Given the description of an element on the screen output the (x, y) to click on. 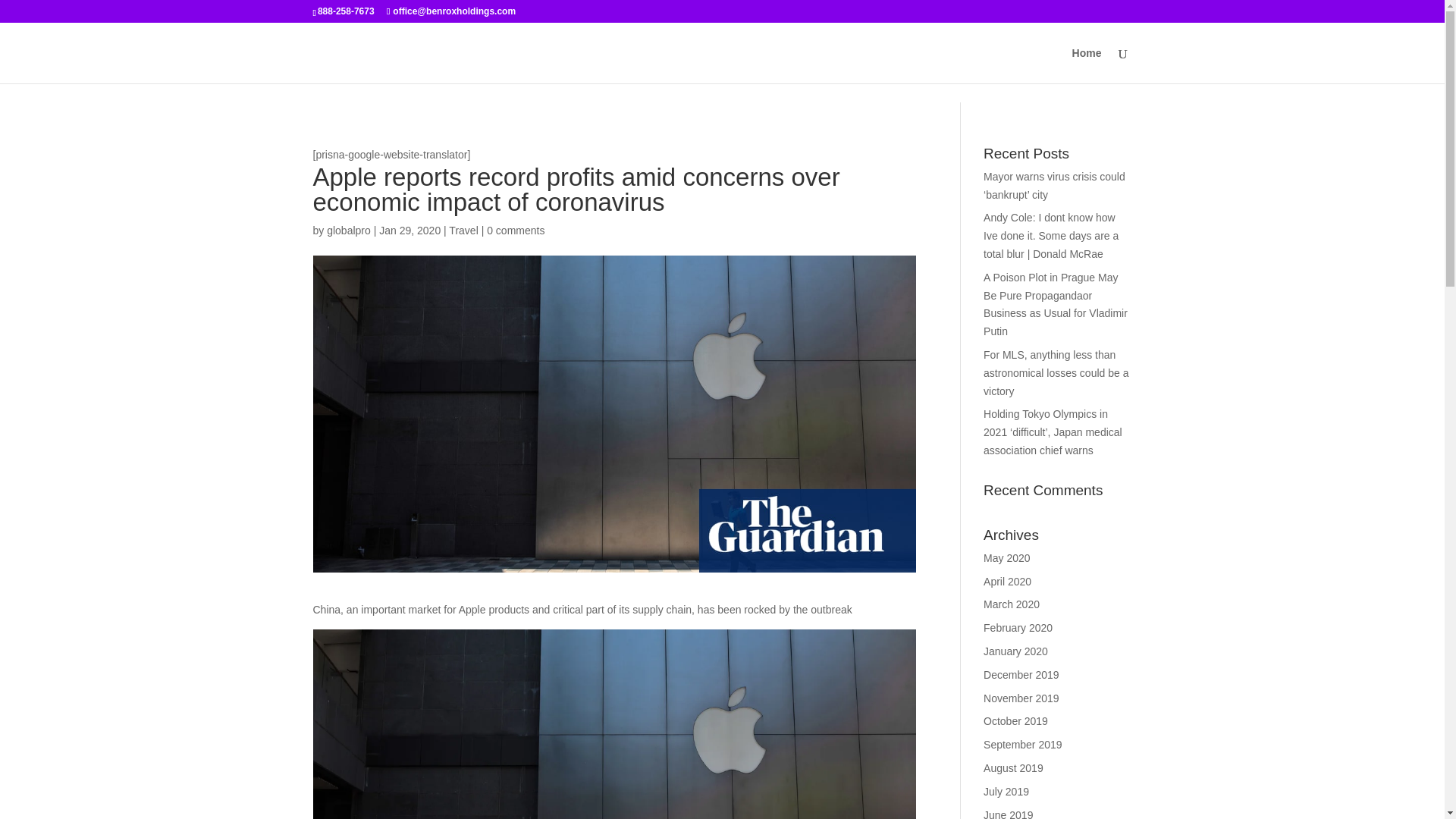
October 2019 (1016, 720)
August 2019 (1013, 767)
February 2020 (1018, 627)
Travel (462, 230)
June 2019 (1008, 814)
March 2020 (1011, 604)
April 2020 (1007, 581)
globalpro (348, 230)
July 2019 (1006, 791)
May 2020 (1006, 558)
